Given the description of an element on the screen output the (x, y) to click on. 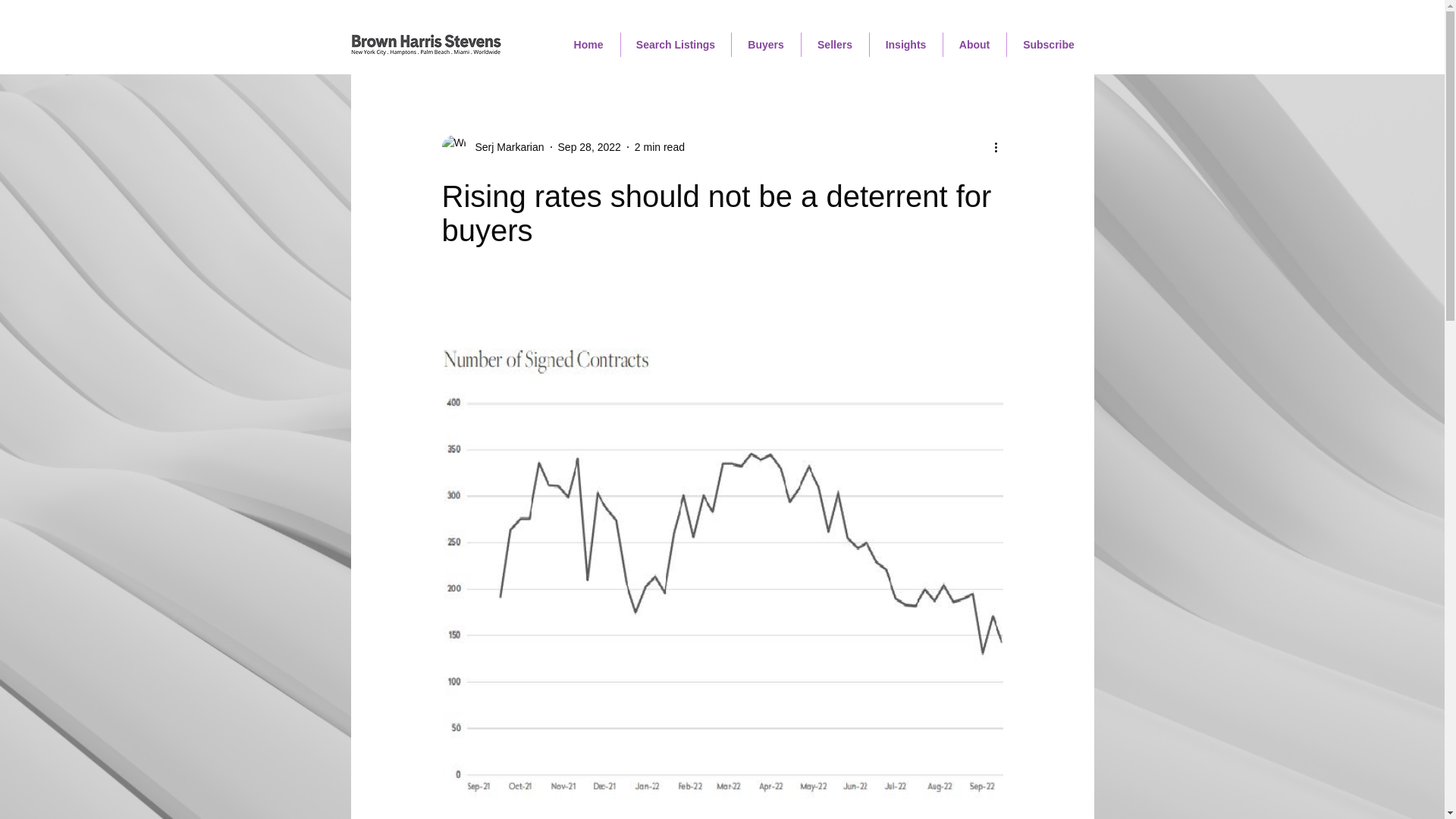
Sep 28, 2022 (589, 146)
Buyers (764, 44)
Search Listings (675, 44)
Serj Markarian (504, 147)
Home (588, 44)
Serj Markarian (492, 146)
Subscribe (1048, 44)
2 min read (659, 146)
Sellers (833, 44)
About (974, 44)
